Given the description of an element on the screen output the (x, y) to click on. 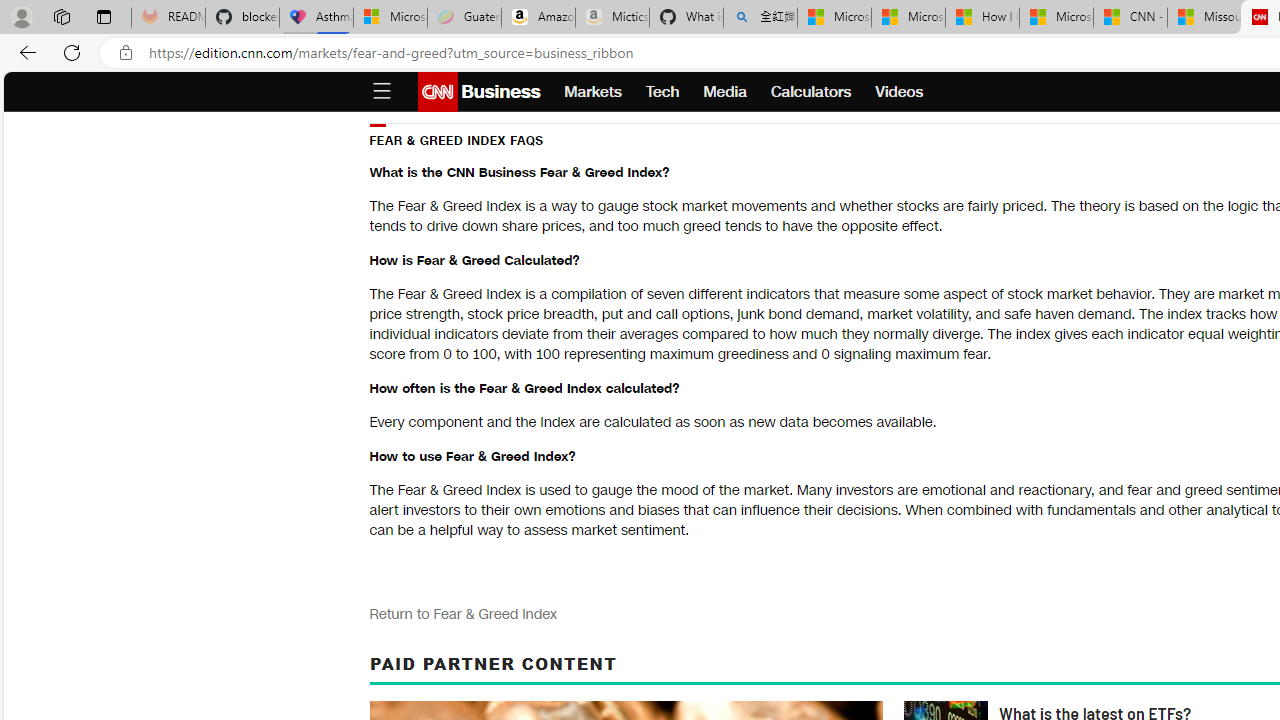
Business (498, 92)
Personal Profile (21, 16)
CNN logo (437, 92)
How I Got Rid of Microsoft Edge's Unnecessary Features (981, 17)
Videos (899, 92)
Workspaces (61, 16)
Tech (662, 92)
Microsoft Start (1056, 17)
CNN - MSN (1130, 17)
Calculators (811, 92)
